Given the description of an element on the screen output the (x, y) to click on. 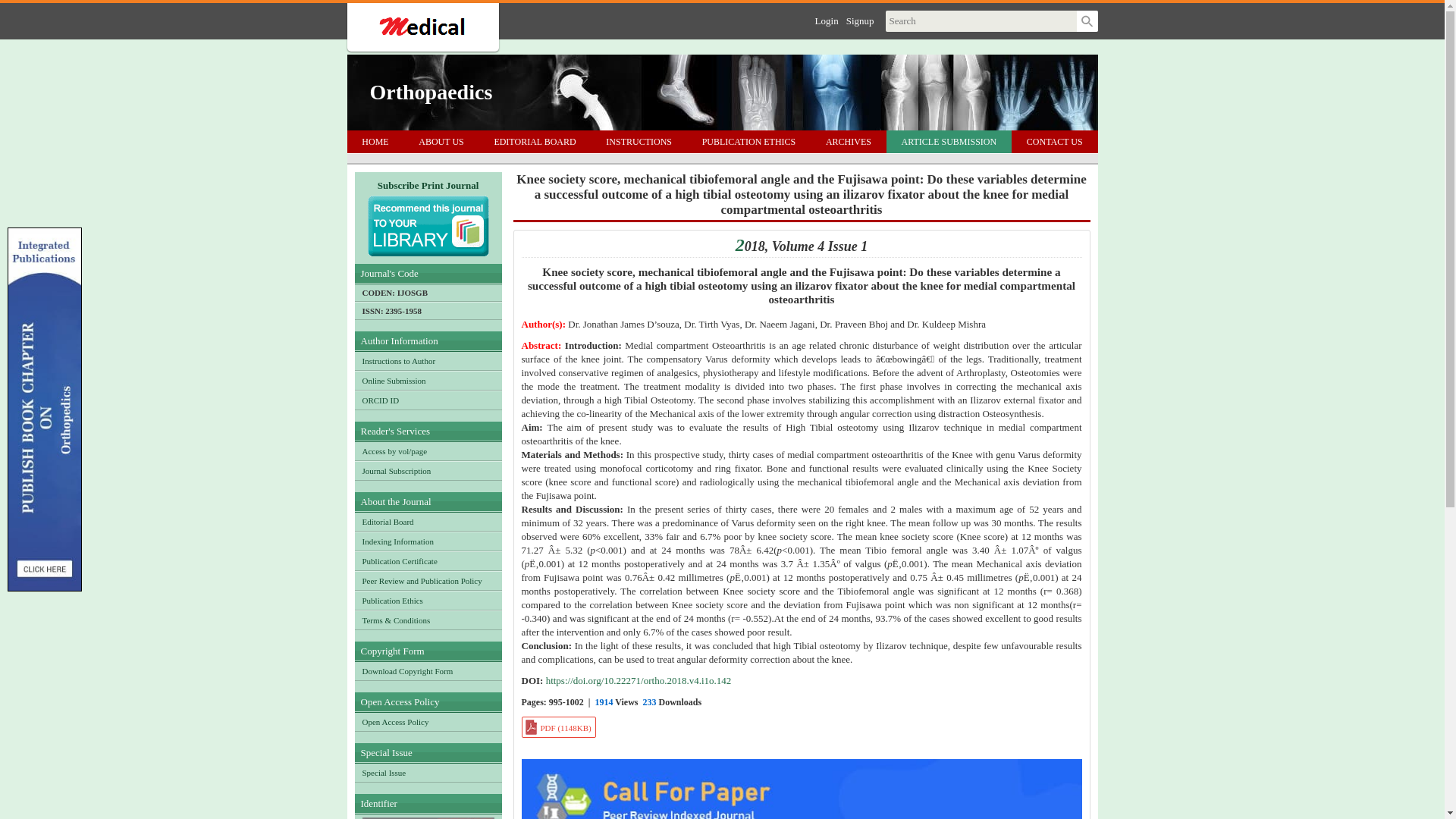
Editorial Board (428, 521)
ARCHIVES (848, 141)
CONTACT US (1054, 141)
EDITORIAL BOARD (535, 141)
Special Issue (428, 772)
Publication Certificate (428, 561)
Orthopaedics (431, 92)
Open Access Policy (428, 721)
Journal Subscription (428, 470)
INSTRUCTIONS (639, 141)
Instructions to Author (428, 361)
Online Submission (428, 380)
ABOUT US (441, 141)
Download Copyright Form (428, 670)
ORCID ID (428, 400)
